Given the description of an element on the screen output the (x, y) to click on. 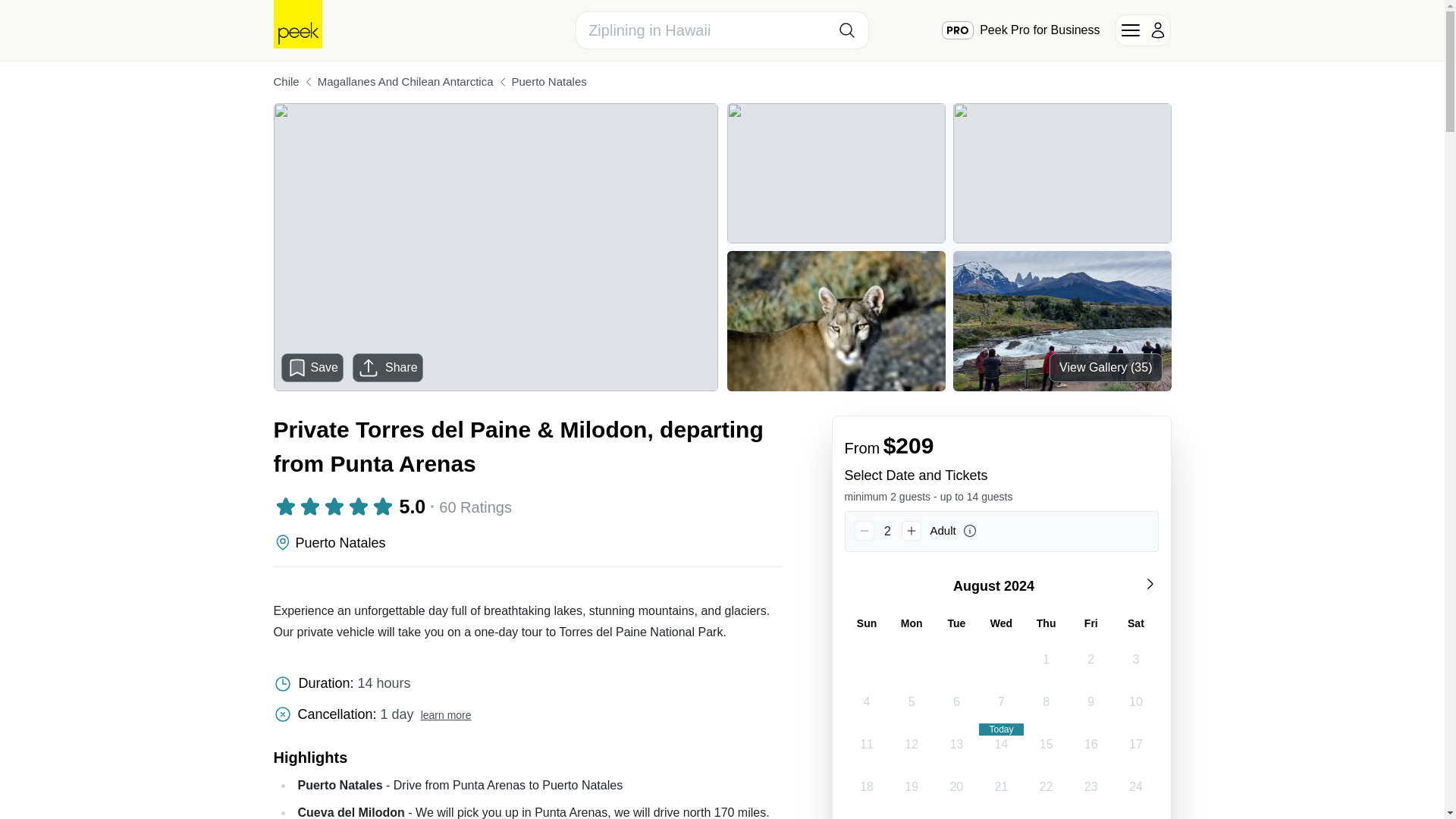
Magallanes And Chilean Antarctica (405, 81)
Share (387, 367)
Save (311, 367)
Peek Pro for Business (1020, 29)
Chile (285, 81)
Puerto Natales (548, 81)
learn more (445, 715)
